Given the description of an element on the screen output the (x, y) to click on. 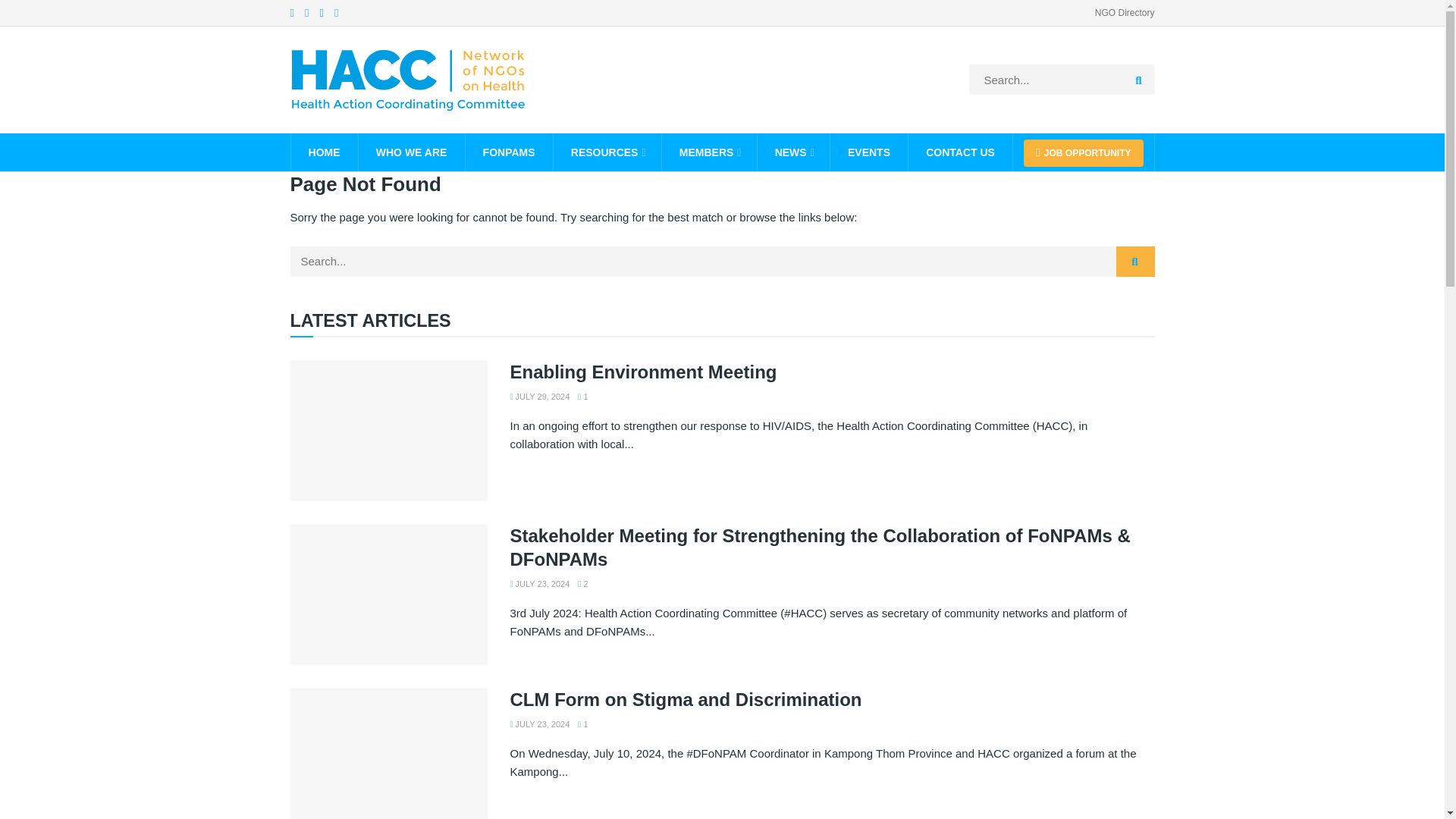
FONPAMS (509, 152)
NGO Directory (1124, 12)
MEMBERS (709, 152)
HOME (324, 152)
EVENTS (868, 152)
NEWS (793, 152)
CONTACT US (959, 152)
JOB OPPORTUNITY (1082, 153)
WHO WE ARE (411, 152)
RESOURCES (607, 152)
